Given the description of an element on the screen output the (x, y) to click on. 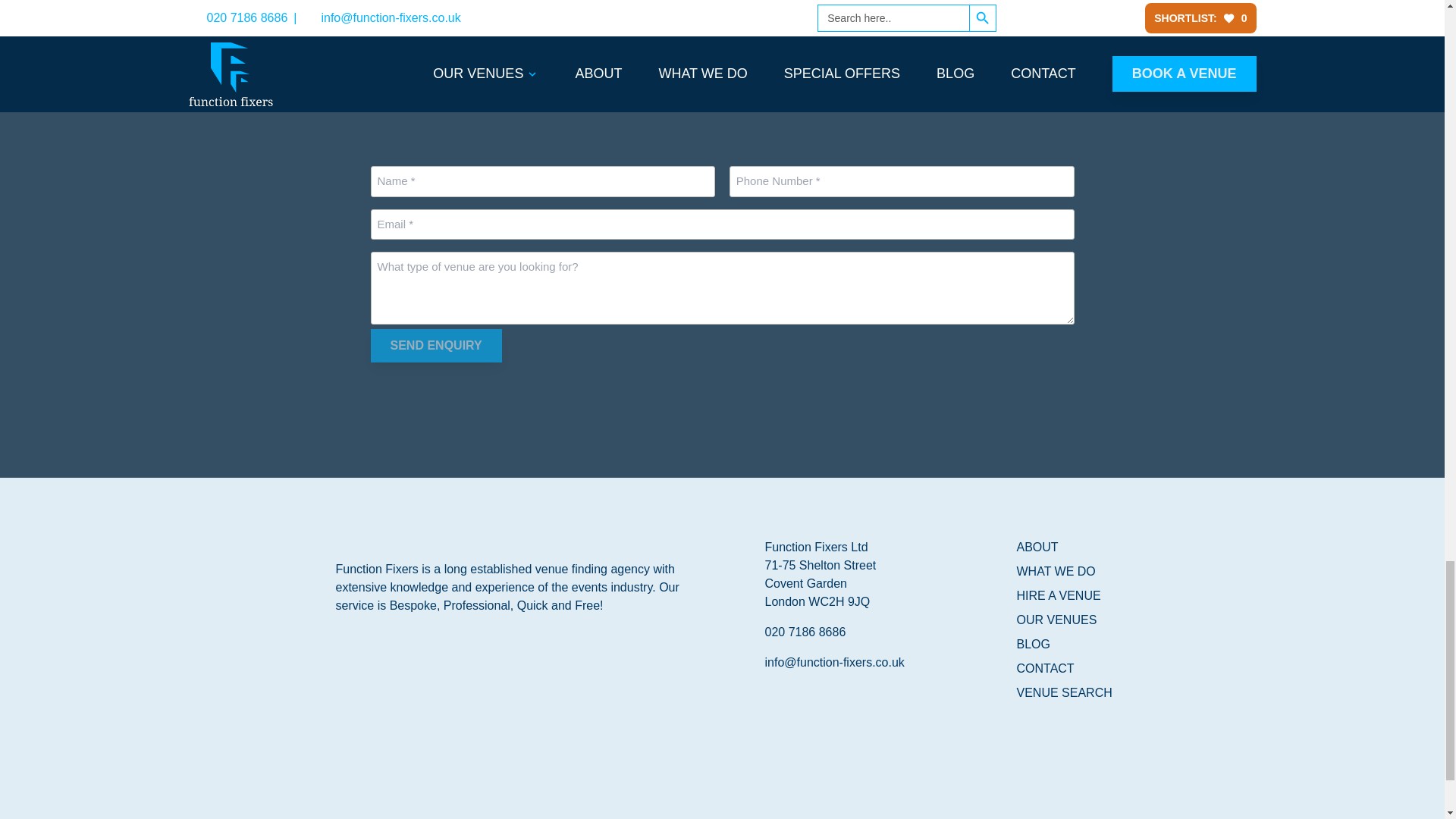
Send Enquiry (434, 345)
